Given the description of an element on the screen output the (x, y) to click on. 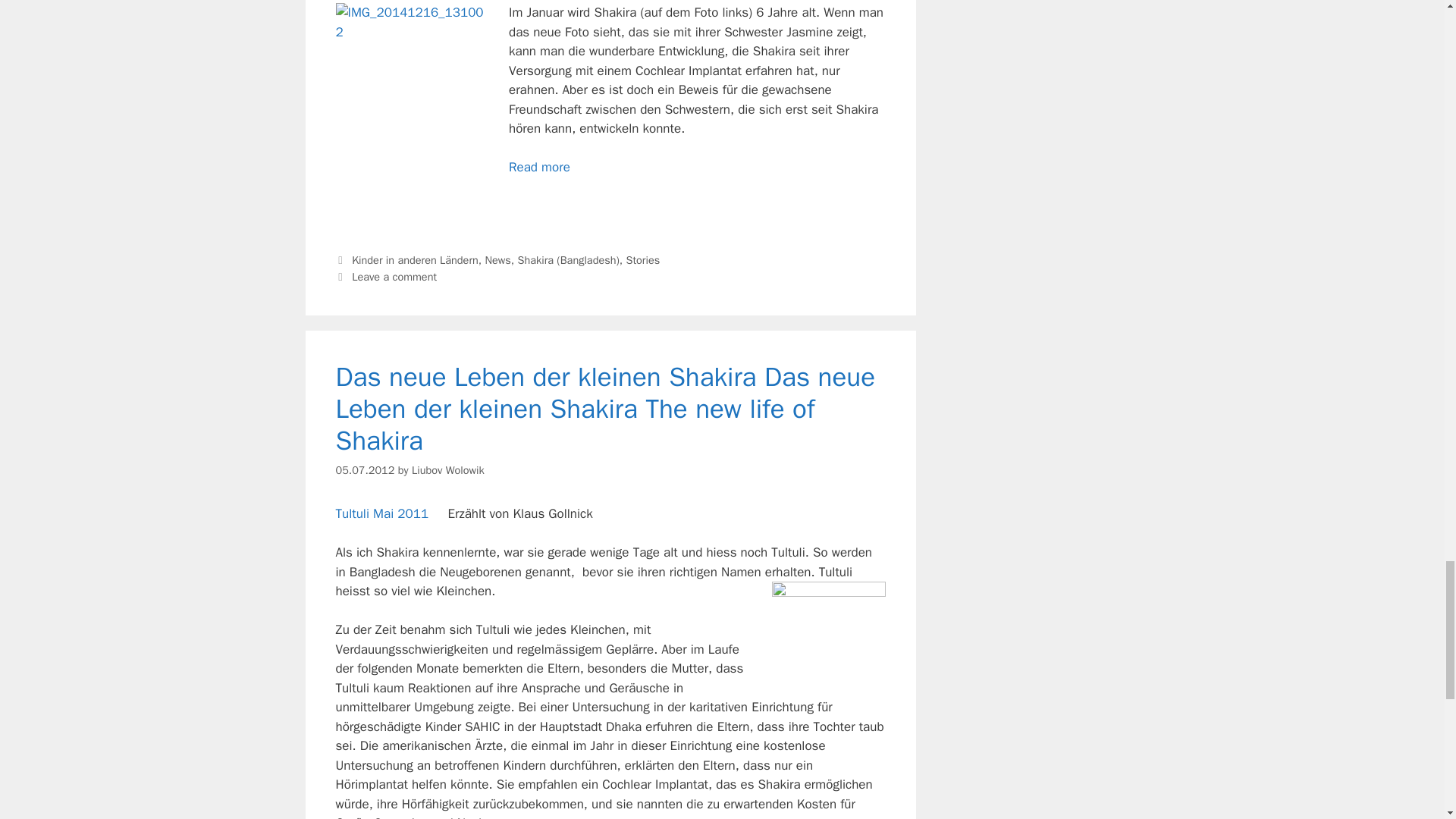
News (497, 259)
Read more (539, 166)
View all posts by Liubov Wolowik (448, 469)
Tultuli Feb 2009 (828, 638)
